Given the description of an element on the screen output the (x, y) to click on. 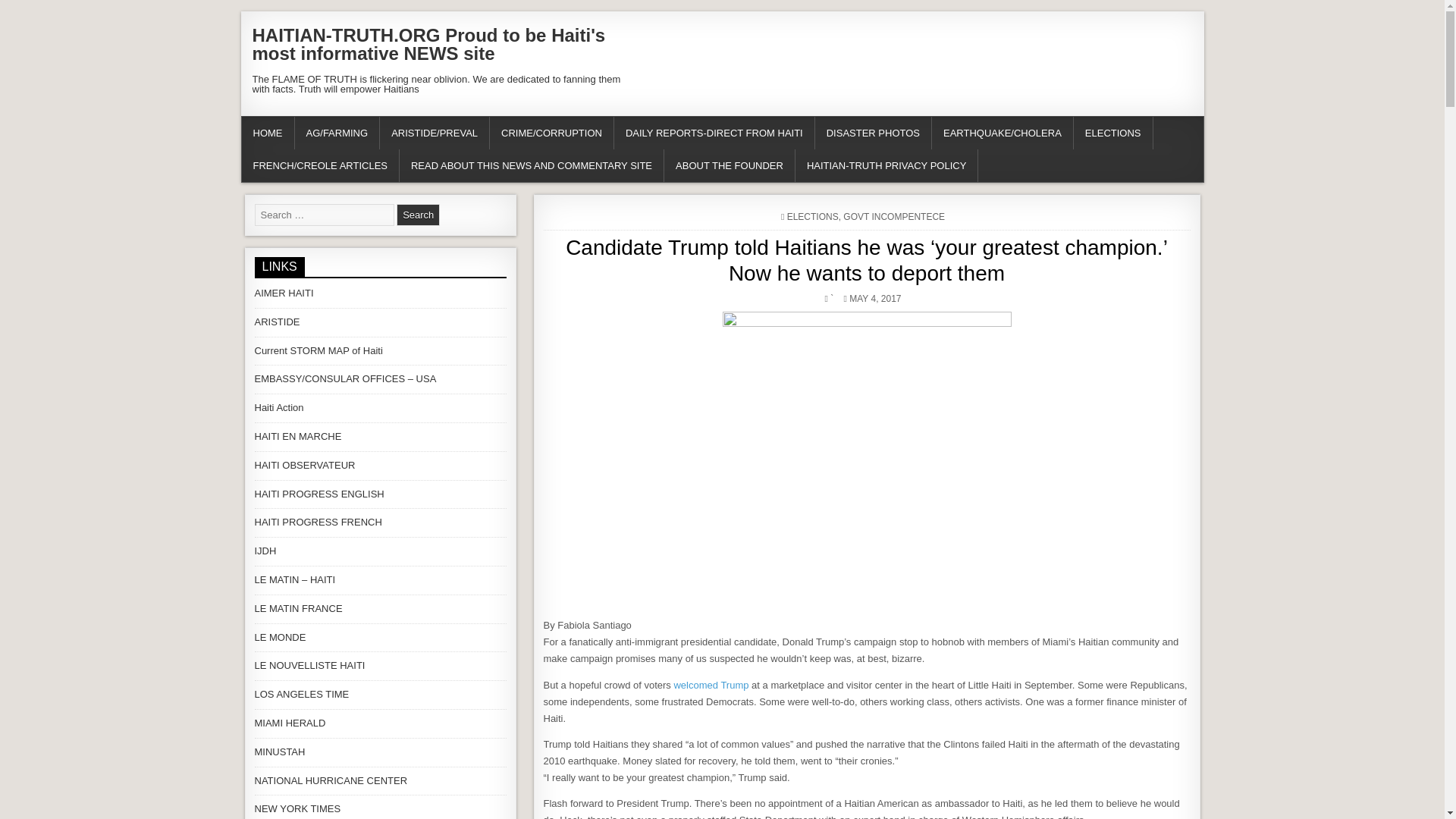
HAITIAN-TRUTH PRIVACY POLICY (886, 165)
ELECTIONS (1113, 133)
DAILY REPORTS-DIRECT FROM HAITI (714, 133)
DISASTER PHOTOS (873, 133)
GOVT INCOMPENTECE (893, 216)
ABOUT THE FOUNDER (728, 165)
Search (417, 214)
ELECTIONS (812, 216)
Search (417, 214)
Search (417, 214)
READ ABOUT THIS NEWS AND COMMENTARY SITE (530, 165)
HOME (267, 133)
Screen Shot 2017-05-04 at 2.25.37 AM (866, 460)
welcomed Trump (710, 685)
